Given the description of an element on the screen output the (x, y) to click on. 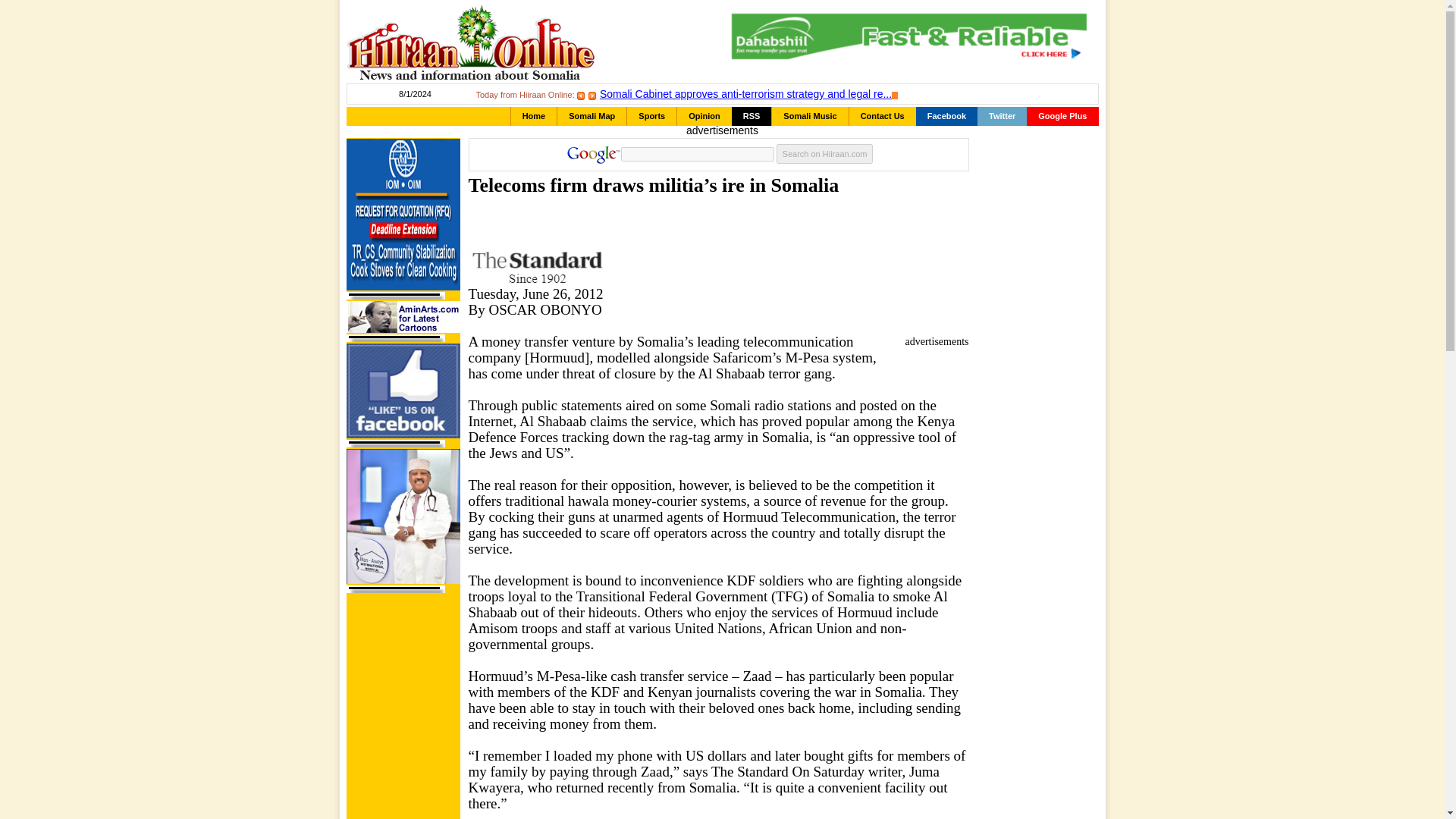
Home (534, 116)
Search on Hiiraan.com (824, 153)
Somali Music (809, 116)
Twitter (1001, 116)
RSS (751, 116)
Facebook (945, 116)
Opinion (704, 116)
Sports (652, 116)
Search on Hiiraan.com (824, 153)
Somali Map (591, 116)
